Given the description of an element on the screen output the (x, y) to click on. 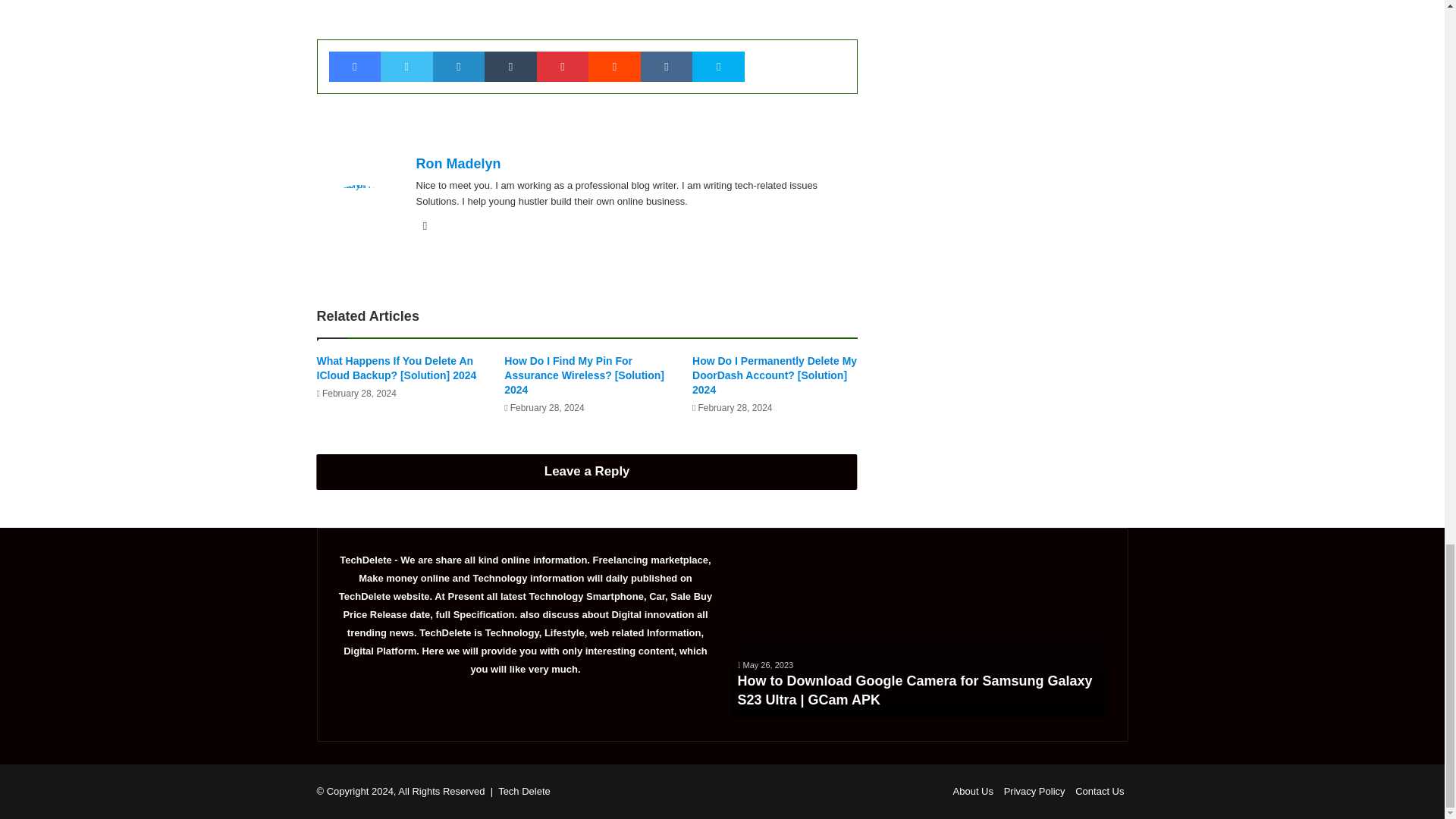
Skype (718, 66)
Pinterest (563, 66)
Facebook (355, 66)
LinkedIn (458, 66)
Twitter (406, 66)
LinkedIn (458, 66)
Twitter (406, 66)
Website (423, 226)
Facebook (355, 66)
Ron Madelyn (457, 163)
